Given the description of an element on the screen output the (x, y) to click on. 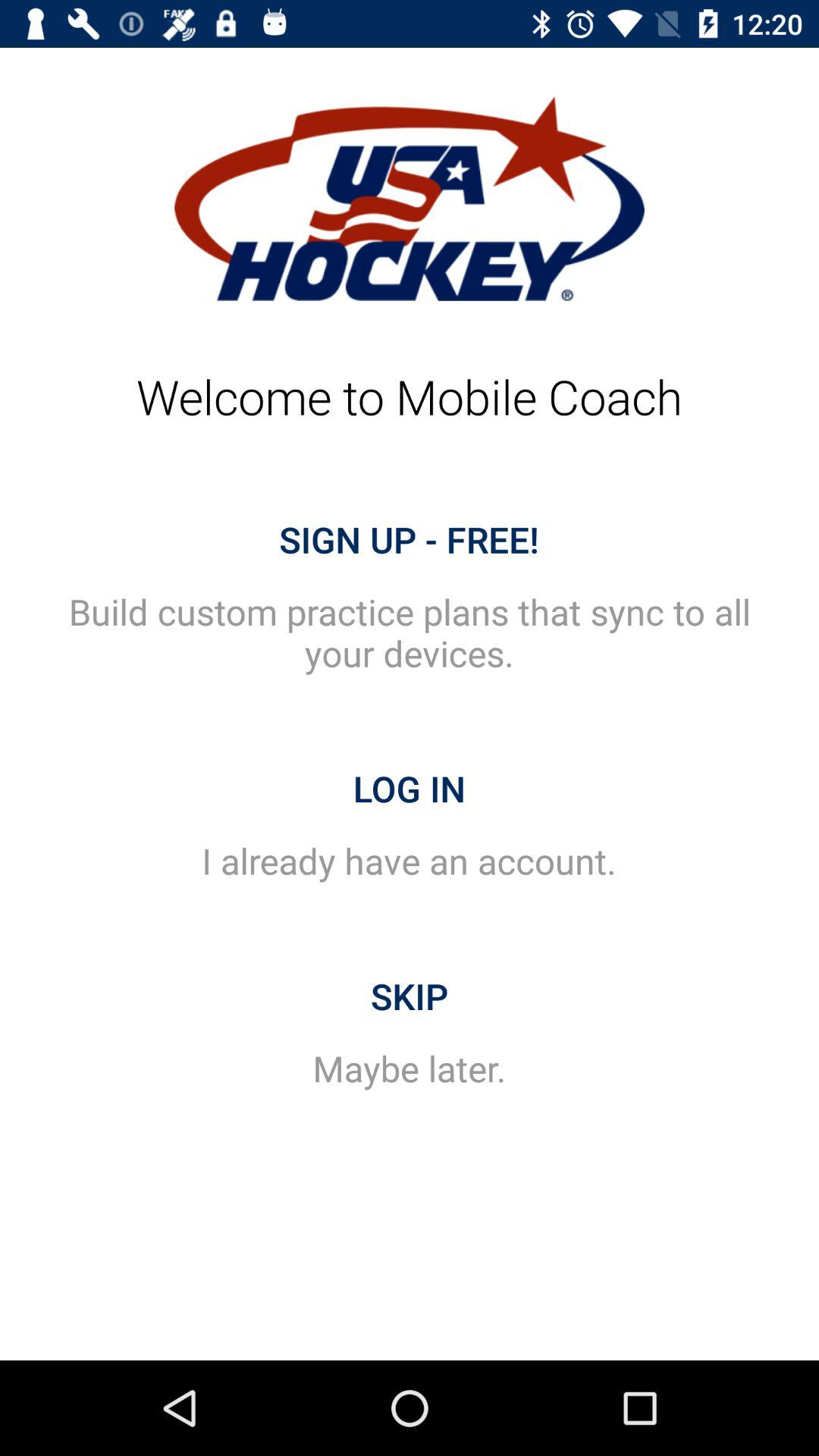
turn off the sign up - free! item (409, 539)
